Given the description of an element on the screen output the (x, y) to click on. 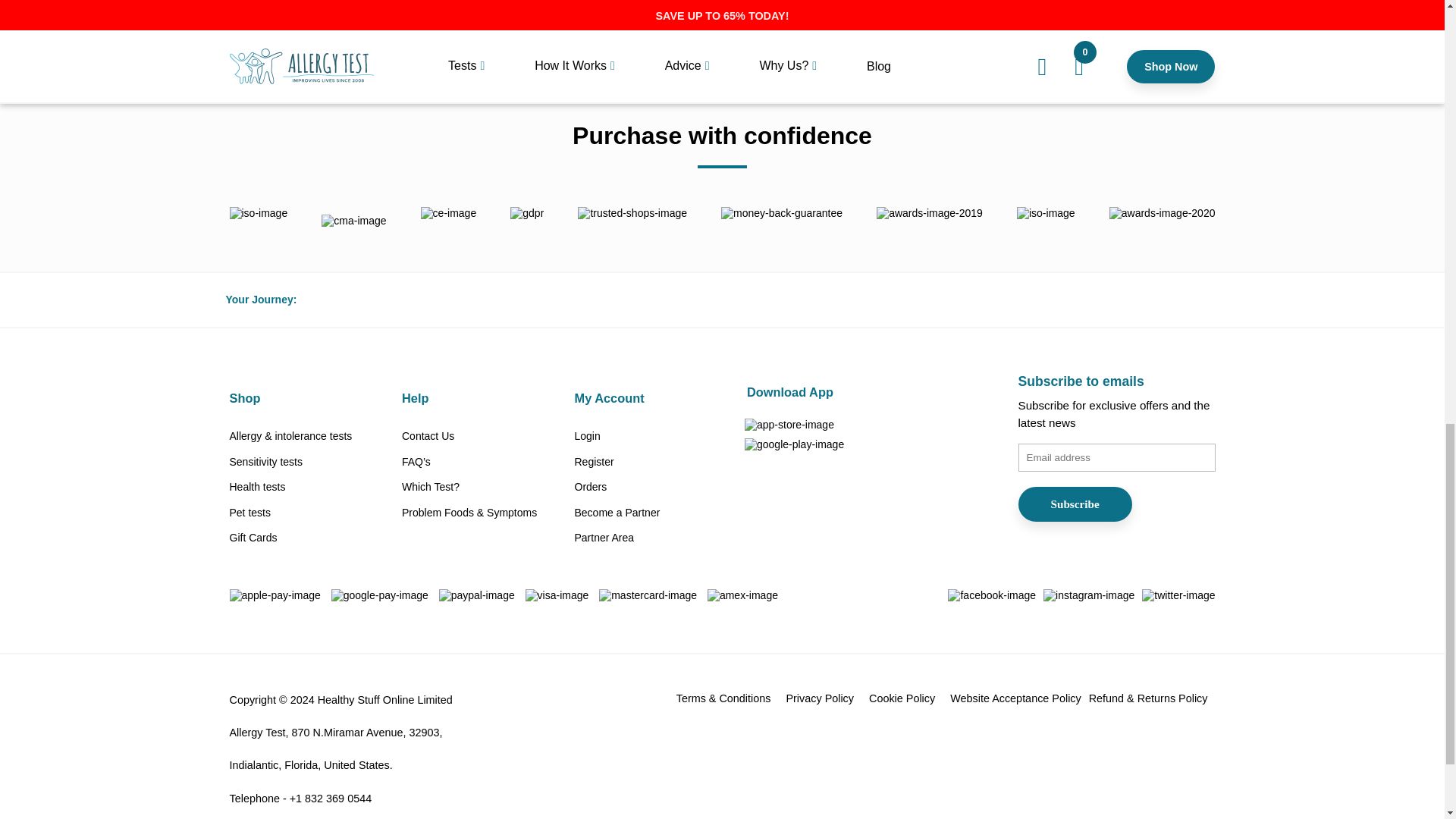
Subscribe (1074, 503)
